Given the description of an element on the screen output the (x, y) to click on. 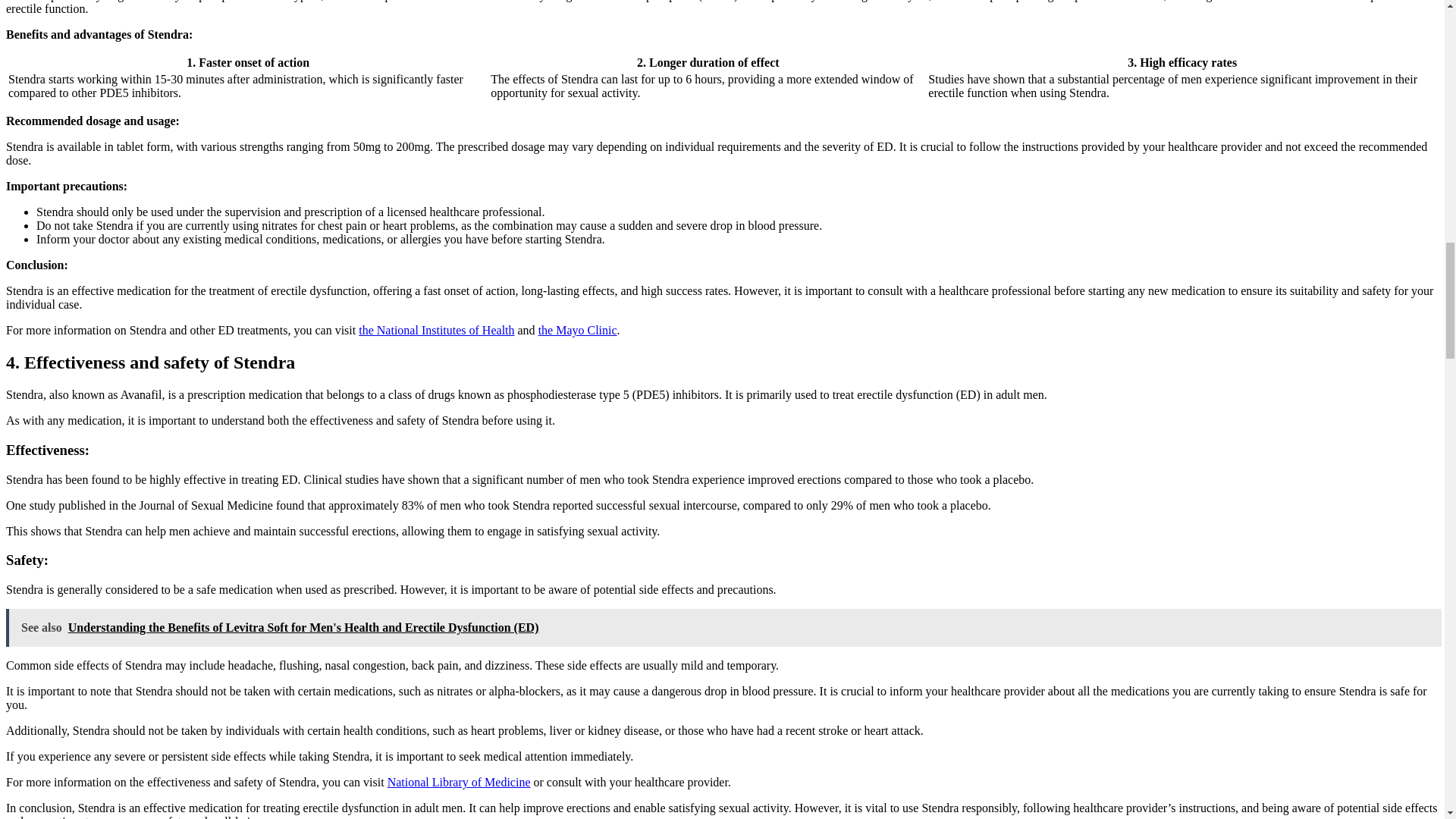
the National Institutes of Health (435, 329)
National Library of Medicine (459, 781)
the Mayo Clinic (577, 329)
